Given the description of an element on the screen output the (x, y) to click on. 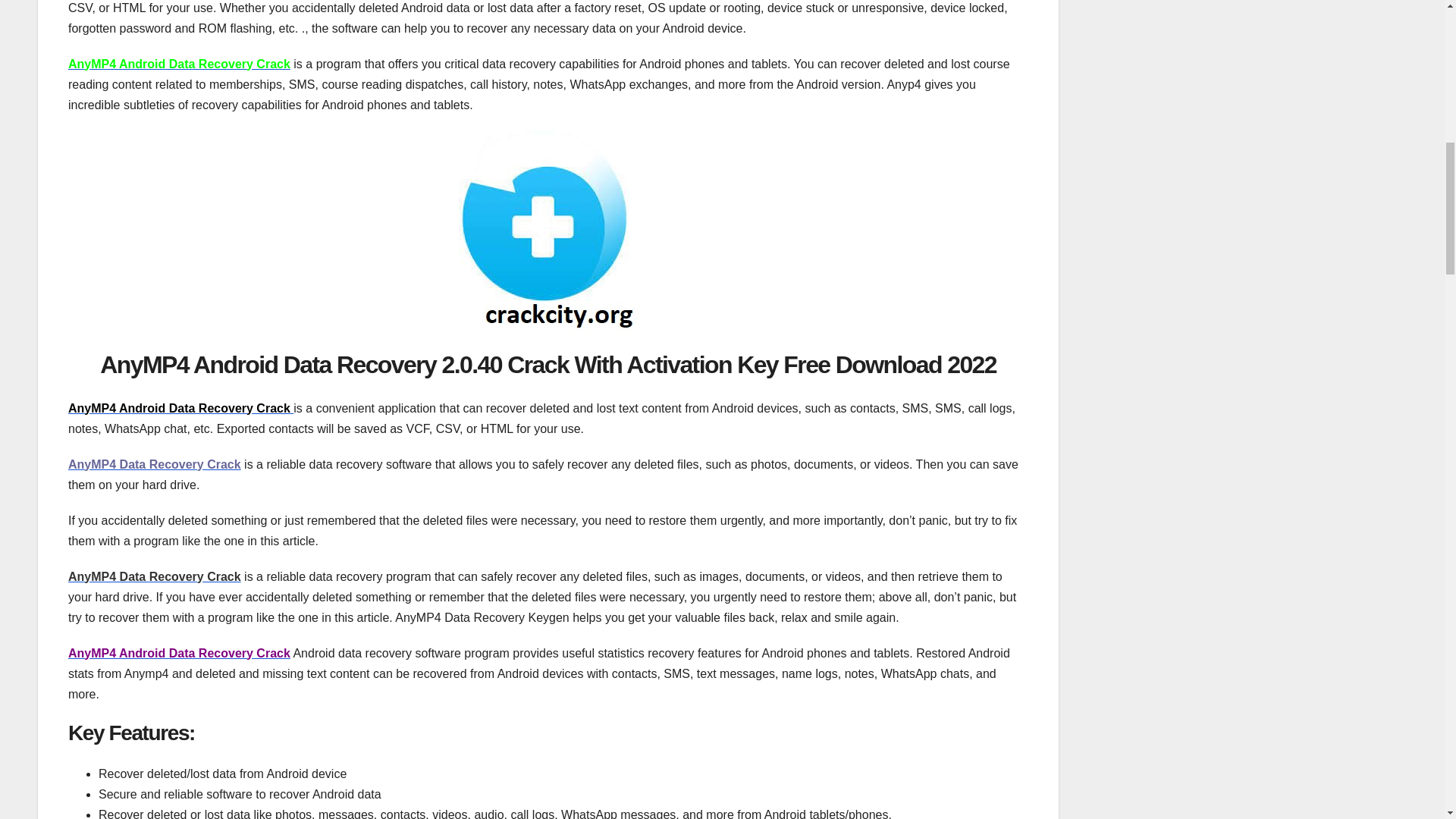
AnyMP4 Data Recovery Crack (154, 463)
AnyMP4 Android Data Recovery Crack (178, 63)
AnyMP4 Android Data Recovery Crack (181, 408)
AnyMP4 Data Recovery Crack (154, 576)
AnyMP4 Android Data Recovery Crack (178, 653)
